Given the description of an element on the screen output the (x, y) to click on. 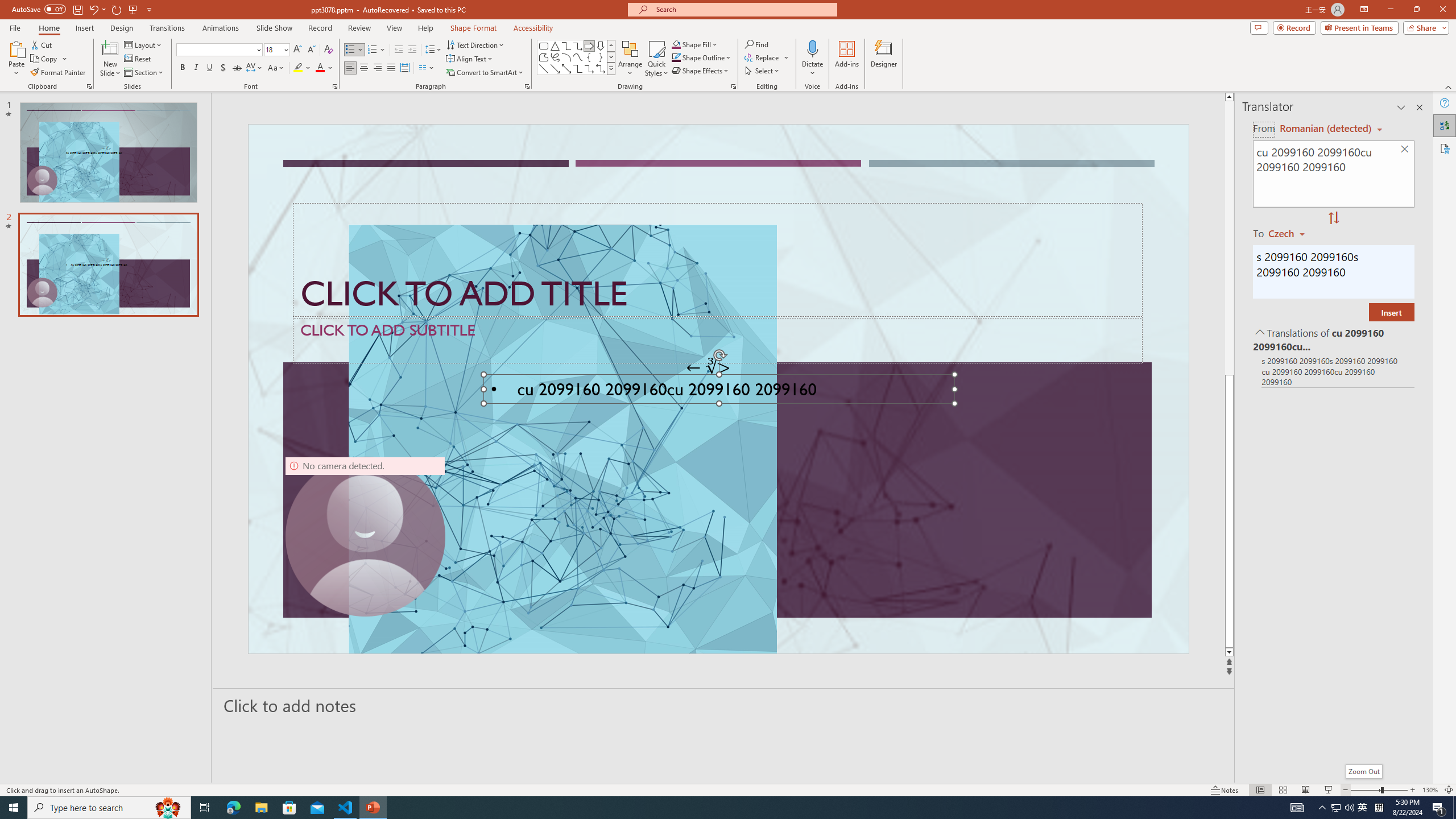
Czech (1291, 232)
